Given the description of an element on the screen output the (x, y) to click on. 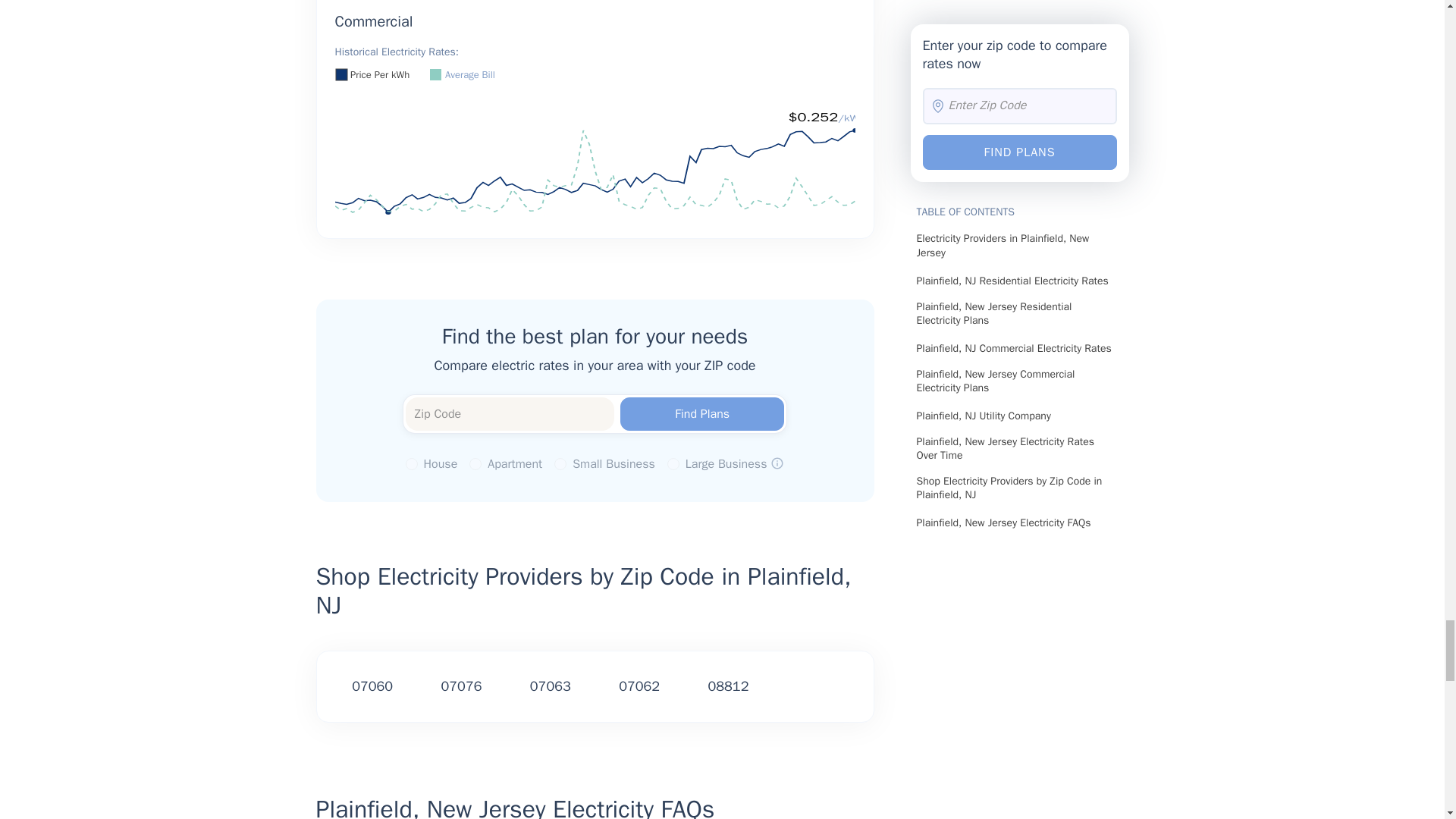
1 (474, 463)
2 (560, 463)
3 (672, 463)
0 (411, 463)
